Given the description of an element on the screen output the (x, y) to click on. 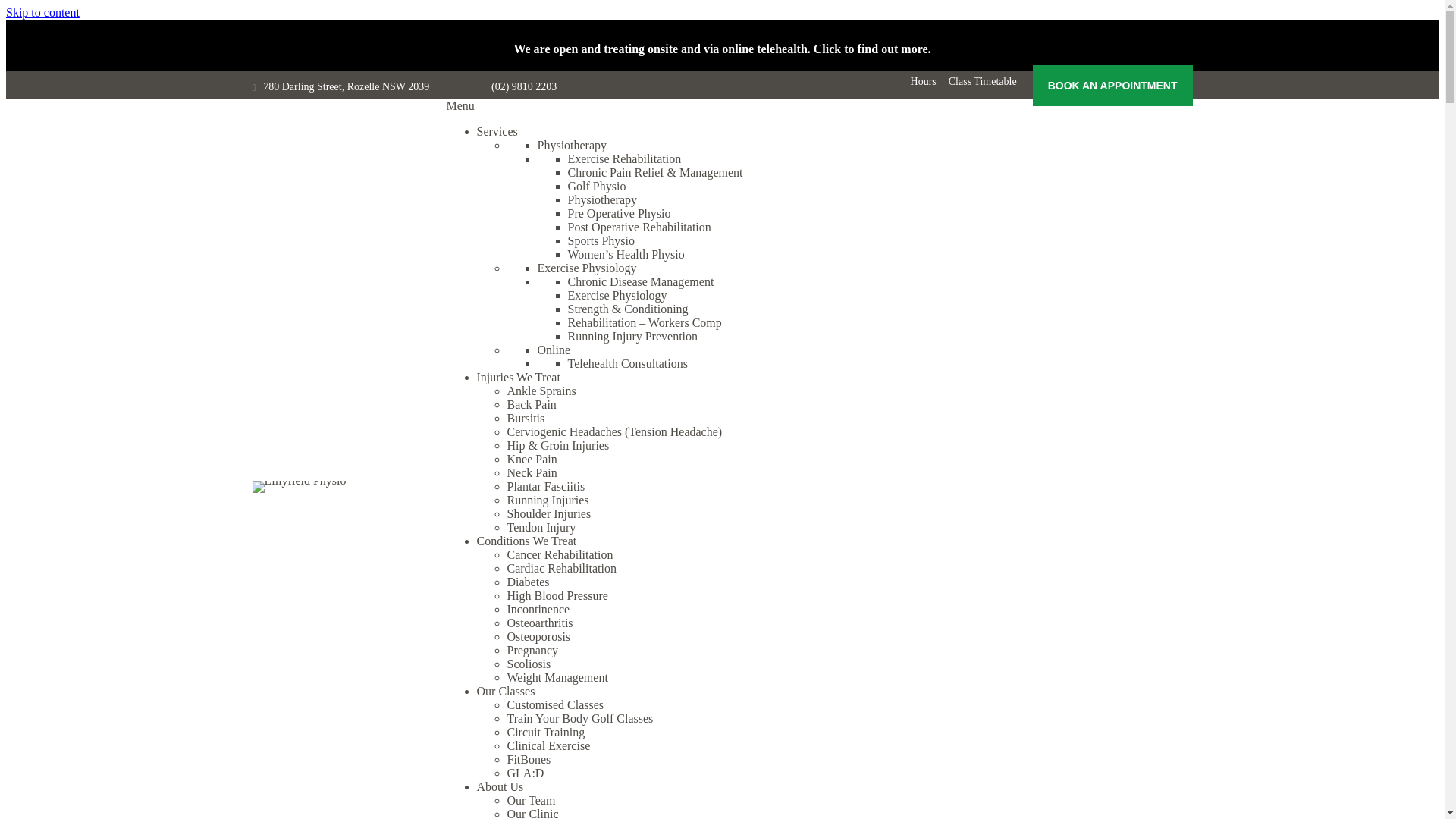
Physiotherapy Element type: text (602, 199)
Golf Physio Element type: text (596, 185)
Shoulder Injuries Element type: text (548, 513)
Back Pain Element type: text (530, 404)
Circuit Training Element type: text (545, 731)
Strength & Conditioning Element type: text (627, 308)
Chronic Disease Management Element type: text (640, 281)
Our Classes Element type: text (505, 690)
Lillyfield Physio Element type: hover (298, 486)
Chronic Pain Relief & Management Element type: text (654, 172)
Menu Element type: text (459, 105)
Exercise Rehabilitation Element type: text (623, 158)
FitBones Element type: text (528, 759)
Train Your Body Golf Classes Element type: text (579, 718)
Telehealth Consultations Element type: text (627, 363)
Running Injury Prevention Element type: text (632, 335)
Knee Pain Element type: text (531, 458)
Conditions We Treat Element type: text (526, 540)
Clinical Exercise Element type: text (547, 745)
Plantar Fasciitis Element type: text (545, 486)
High Blood Pressure Element type: text (556, 595)
Osteoporosis Element type: text (538, 636)
Exercise Physiology Element type: text (616, 294)
Sports Physio Element type: text (600, 240)
Cardiac Rehabilitation Element type: text (560, 567)
BOOK AN APPOINTMENT Element type: text (1112, 85)
Cancer Rehabilitation Element type: text (559, 554)
Pre Operative Physio Element type: text (618, 213)
Hours Element type: text (917, 81)
GLA:D Element type: text (524, 772)
Running Injuries Element type: text (547, 499)
Class Timetable Element type: text (976, 81)
Skip to content Element type: text (42, 12)
Ankle Sprains Element type: text (540, 390)
Weight Management Element type: text (556, 677)
Cerviogenic Headaches (Tension Headache) Element type: text (613, 431)
Customised Classes Element type: text (554, 704)
(02) 9810 2203 Element type: text (523, 87)
Incontinence Element type: text (537, 608)
Bursitis Element type: text (525, 417)
Tendon Injury Element type: text (540, 526)
Scoliosis Element type: text (528, 663)
780 Darling Street, Rozelle NSW 2039 Element type: text (346, 86)
Pregnancy Element type: text (532, 649)
Hip & Groin Injuries Element type: text (557, 445)
Diabetes Element type: text (527, 581)
Osteoarthritis Element type: text (539, 622)
Our Team Element type: text (530, 799)
Neck Pain Element type: text (531, 472)
Post Operative Rehabilitation Element type: text (638, 226)
